Given the description of an element on the screen output the (x, y) to click on. 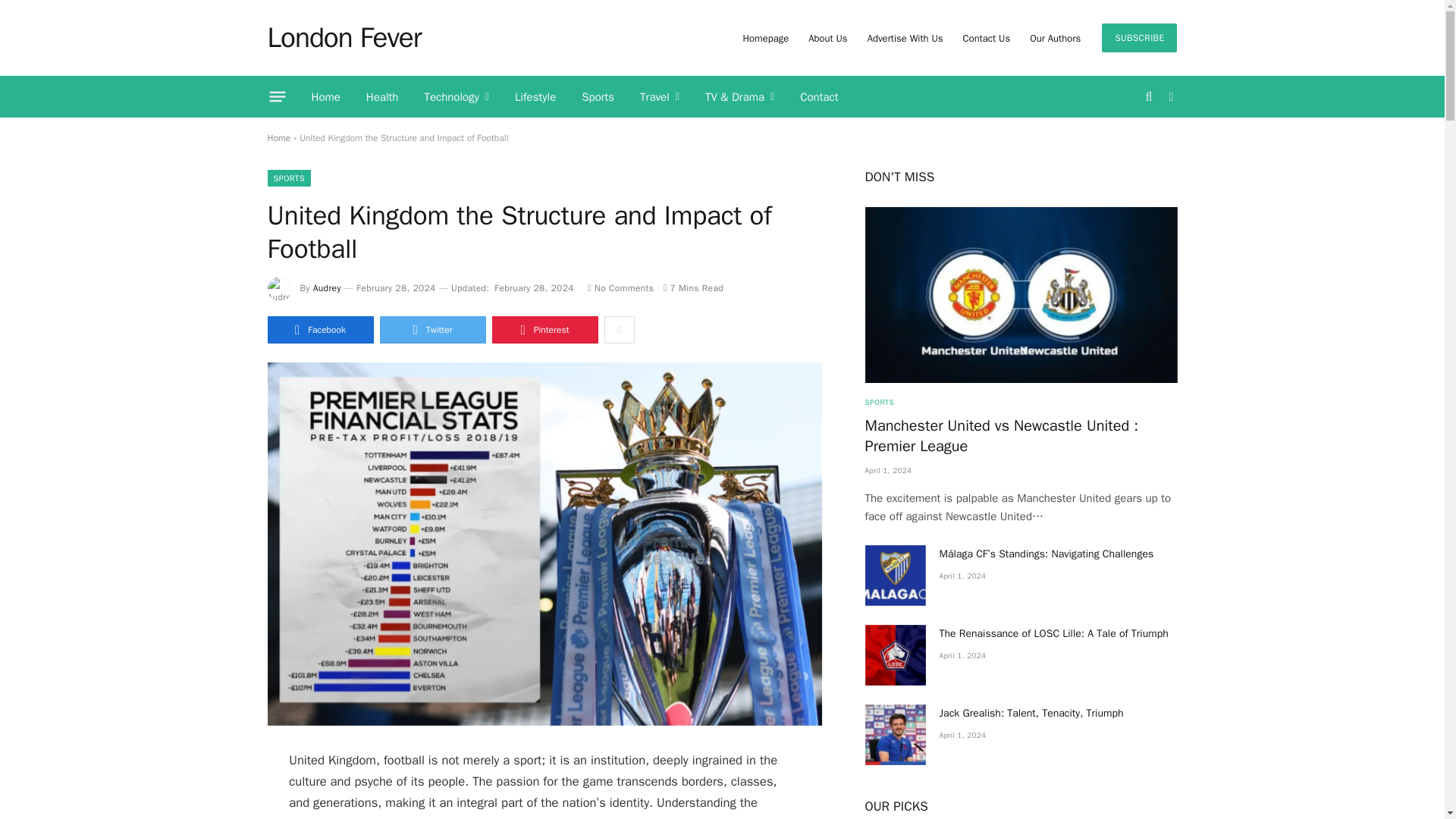
Contact (818, 96)
Technology (456, 96)
Travel (660, 96)
LondonFever (343, 37)
Home (325, 96)
Share on Facebook (319, 329)
London Fever (343, 37)
Advertise With Us (905, 38)
Lifestyle (535, 96)
Switch to Dark Design - easier on eyes. (1168, 96)
Sports (598, 96)
Our Authors (1055, 38)
Health (382, 96)
Posts by Audrey (326, 287)
SUBSCRIBE (1139, 37)
